Given the description of an element on the screen output the (x, y) to click on. 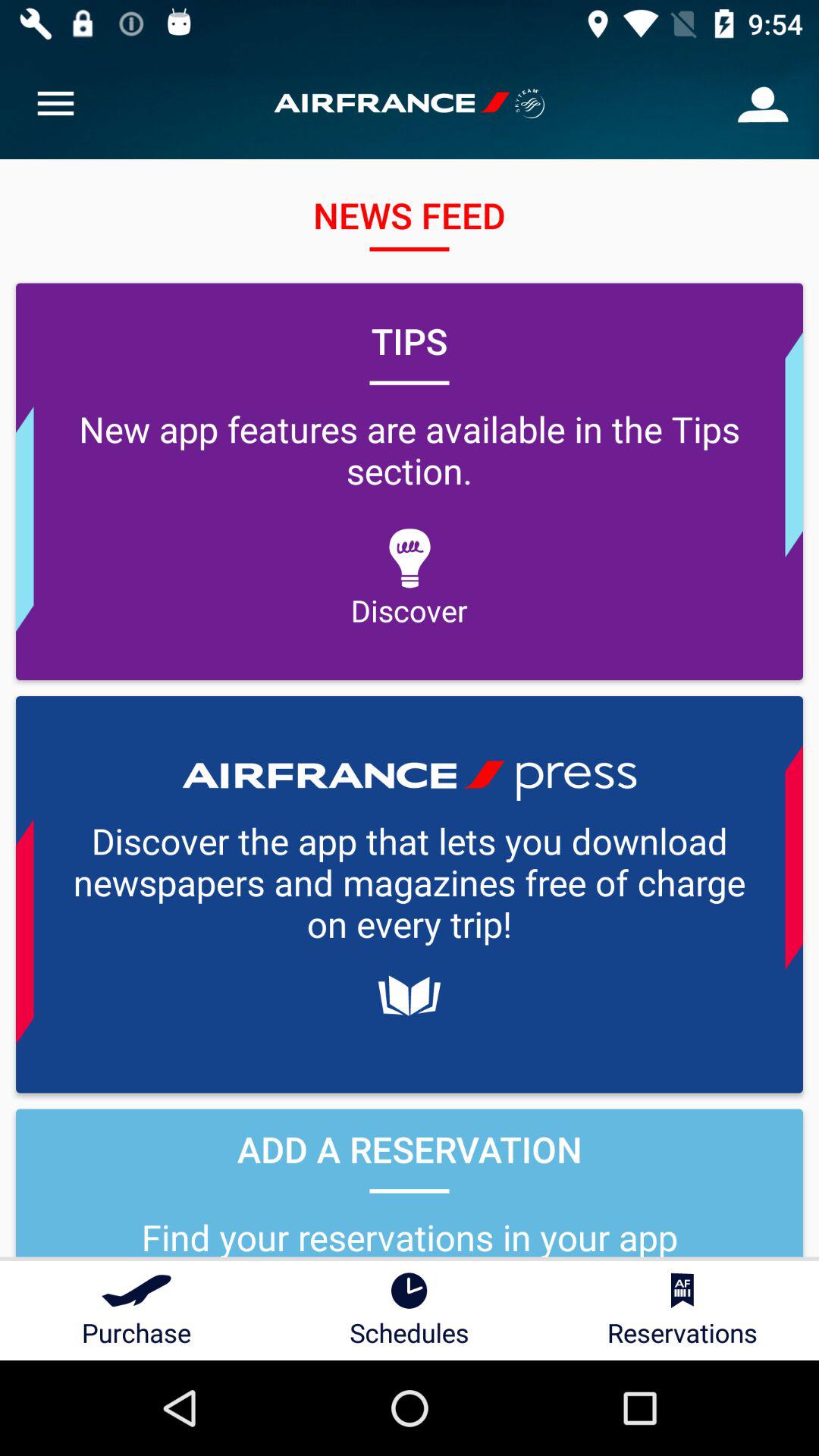
choose icon next to the reservations (409, 1310)
